Given the description of an element on the screen output the (x, y) to click on. 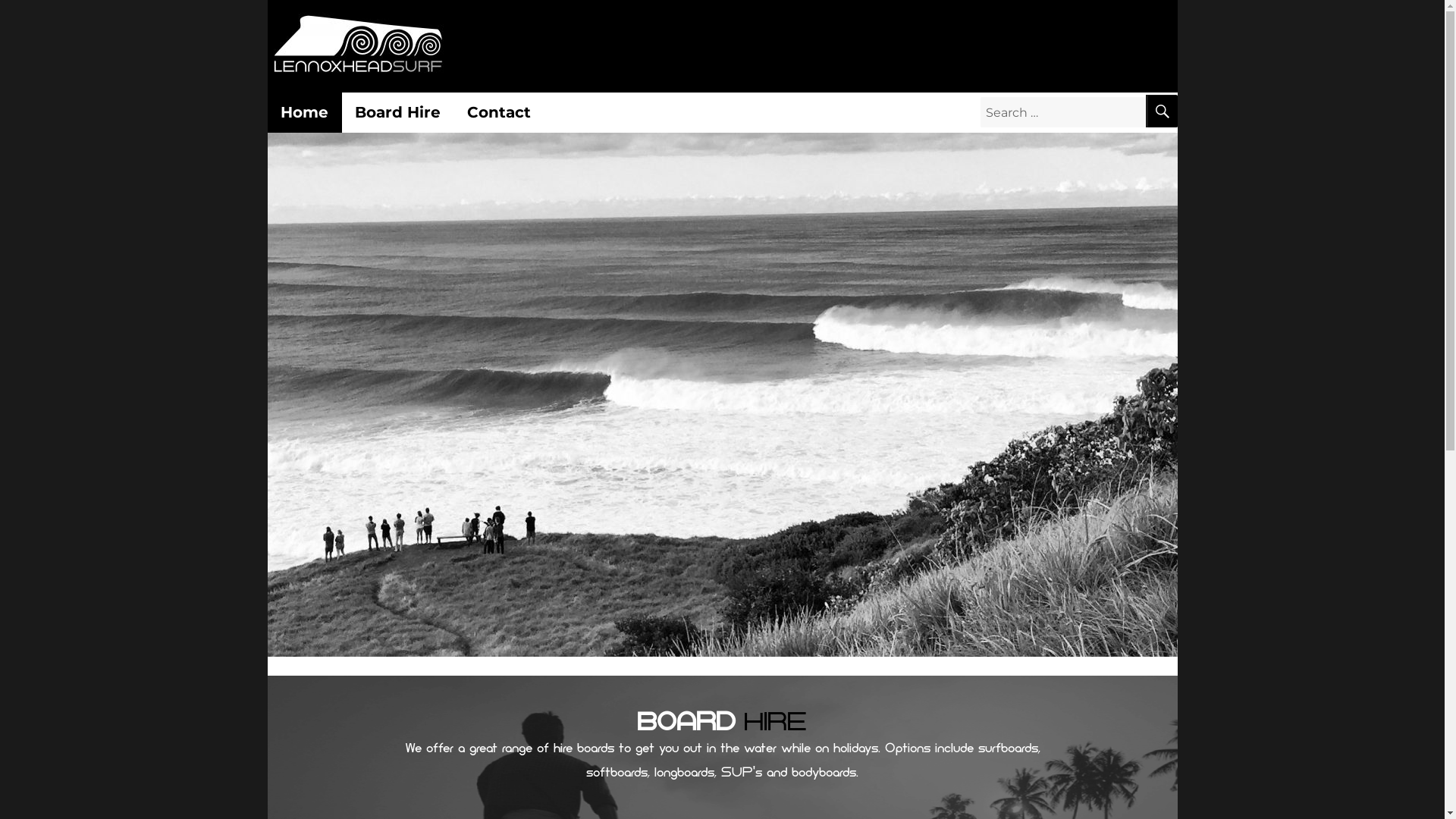
Home Element type: text (303, 112)
Contact Element type: text (498, 112)
Board Hire Element type: text (397, 112)
SEARCH Element type: text (1160, 110)
